Given the description of an element on the screen output the (x, y) to click on. 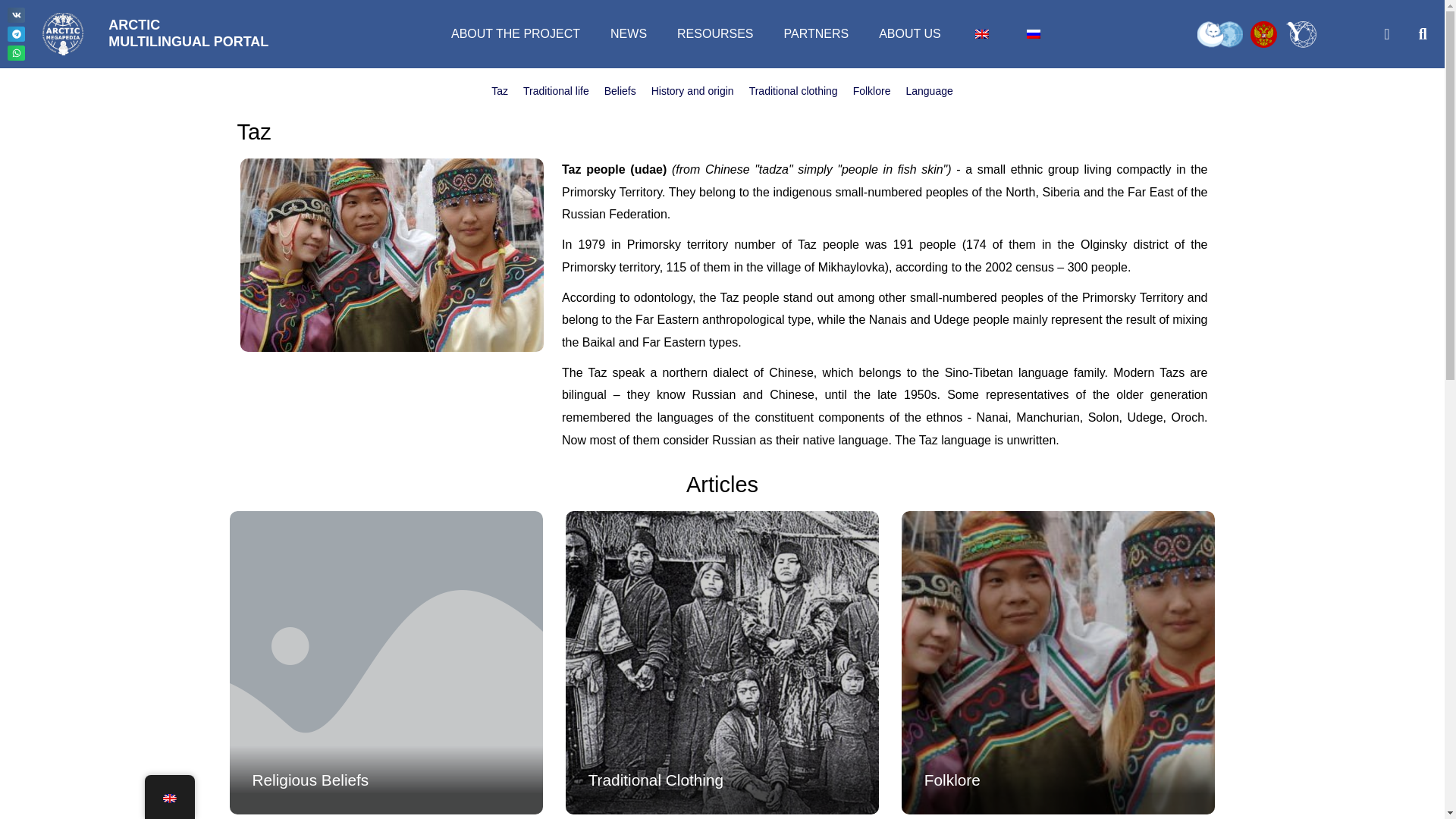
English (168, 798)
NEWS (628, 33)
English (981, 33)
ABOUT US (909, 33)
PARTNERS (816, 33)
ABOUT THE PROJECT (515, 33)
RESOURSES (715, 33)
Russian (187, 33)
